Given the description of an element on the screen output the (x, y) to click on. 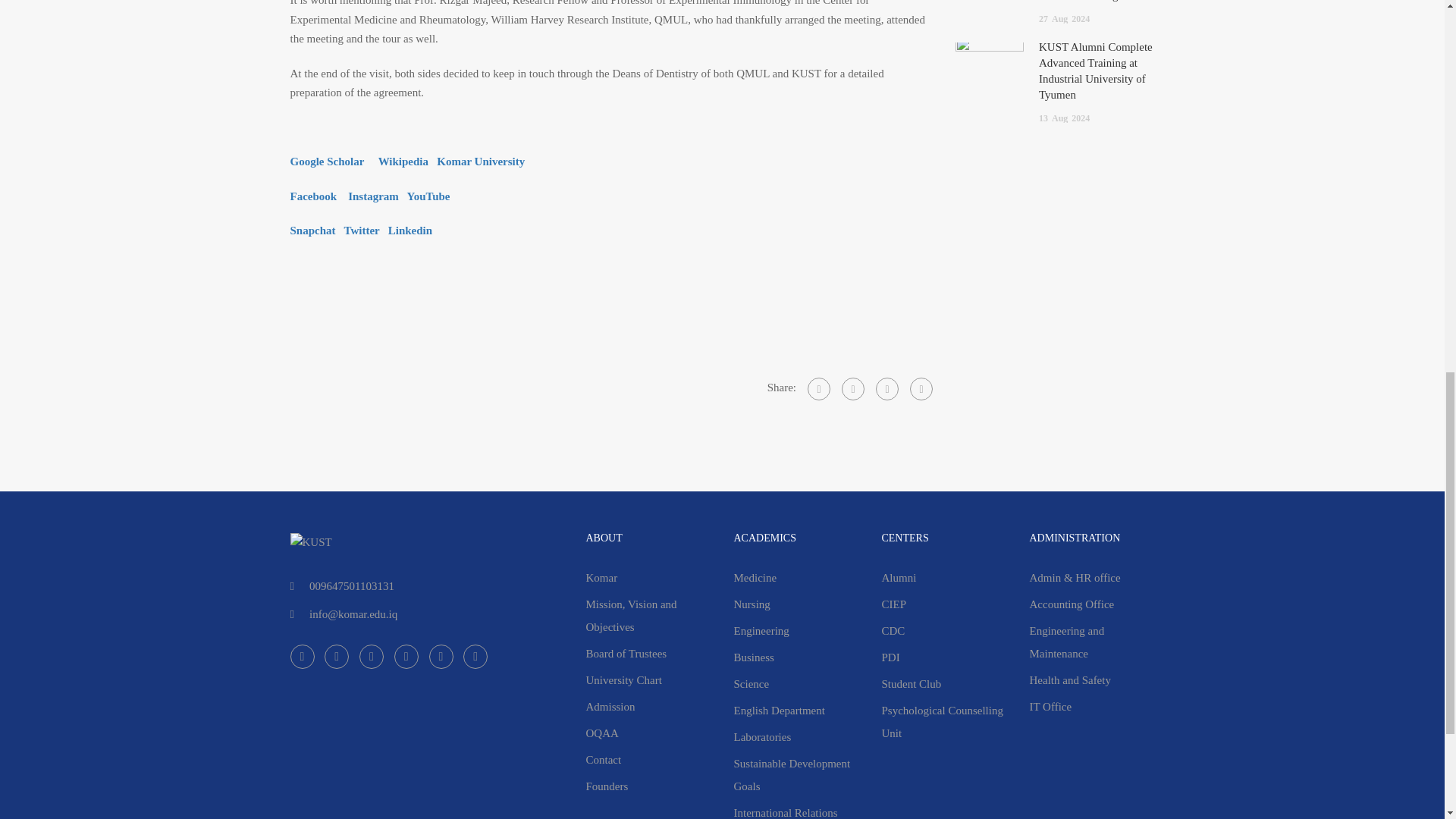
Twitter (852, 388)
Facebook (818, 388)
Pinterest (887, 388)
